Given the description of an element on the screen output the (x, y) to click on. 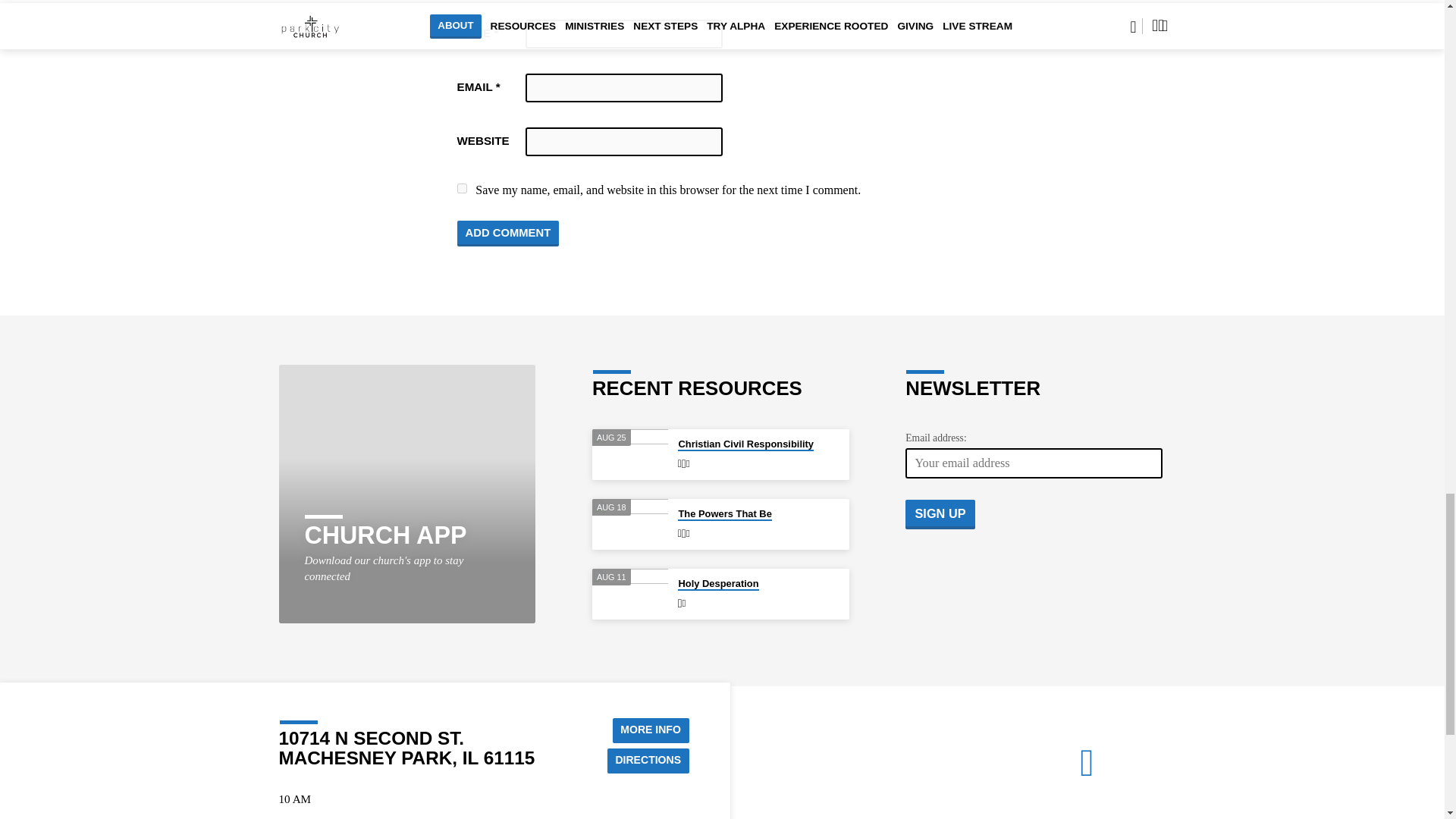
yes (461, 188)
Add Comment (508, 233)
Sign up (940, 513)
